Given the description of an element on the screen output the (x, y) to click on. 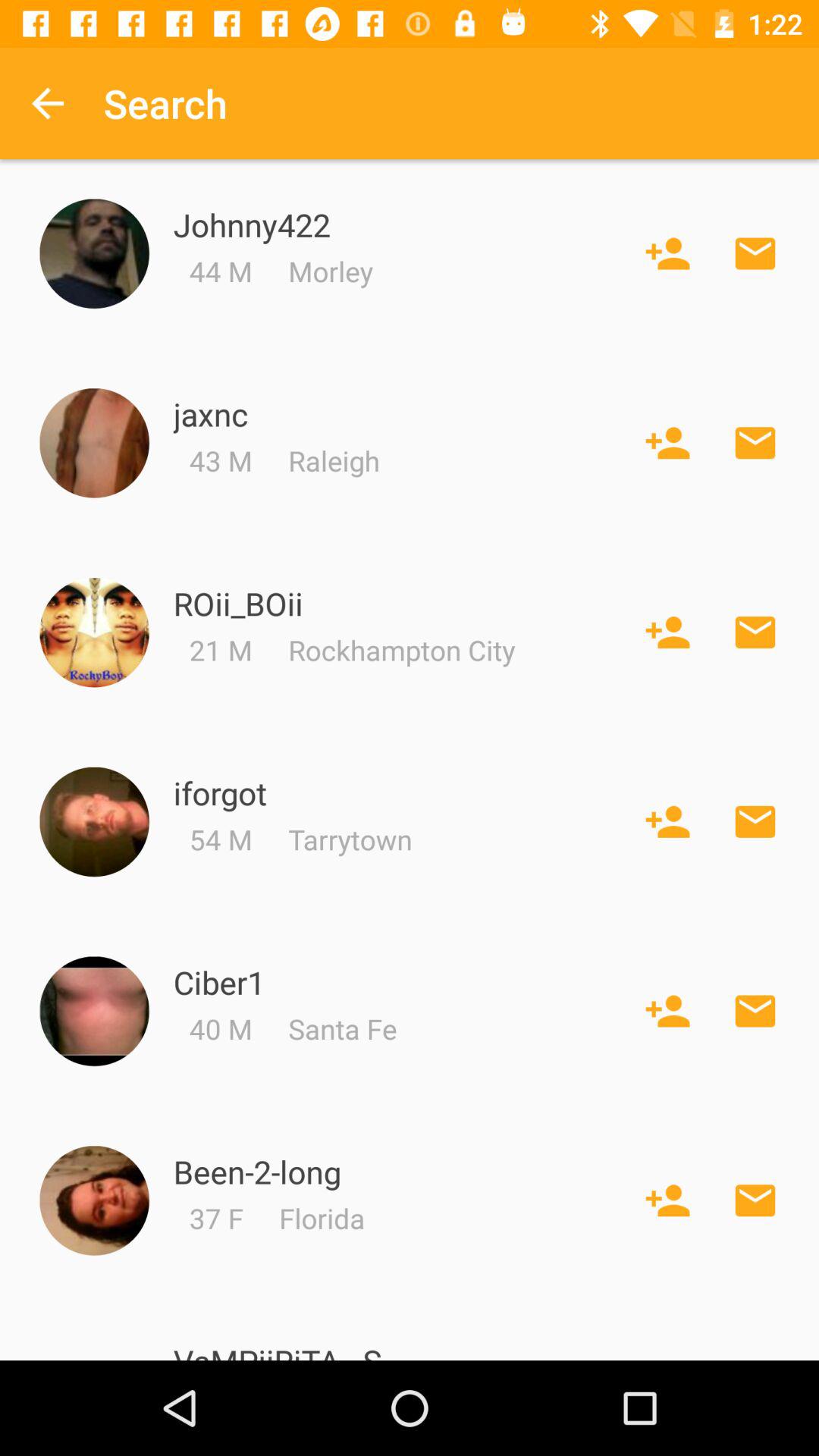
view profile (94, 632)
